Given the description of an element on the screen output the (x, y) to click on. 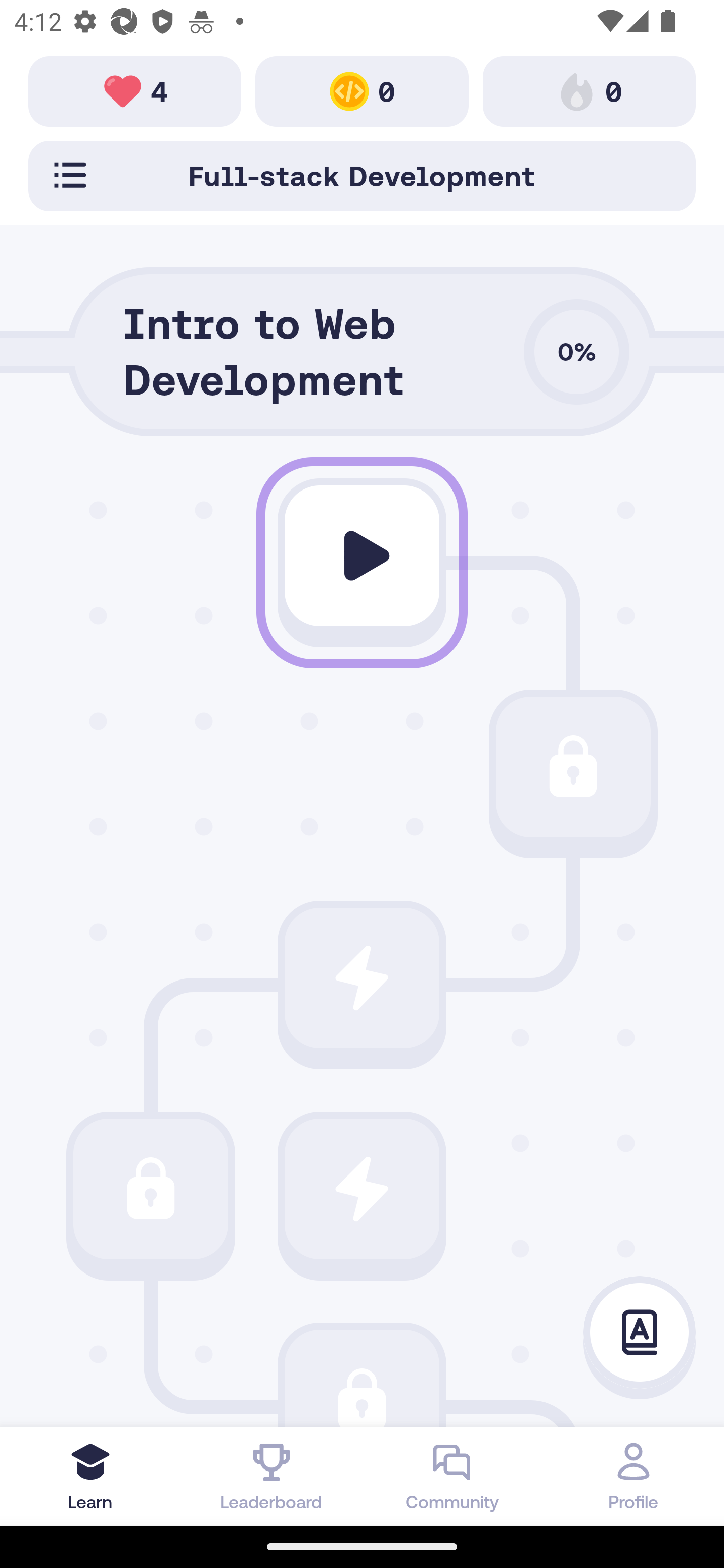
Path Toolbar Image 4 (134, 90)
Path Toolbar Image 0 (361, 90)
Path Toolbar Image 0 (588, 90)
Path Toolbar Selector Full-stack Development (361, 175)
Path Icon (361, 555)
Path Icon (572, 766)
Path Icon (361, 977)
Path Icon (150, 1188)
Path Icon (361, 1188)
Glossary Icon (639, 1332)
Path Icon (361, 1377)
Leaderboard (271, 1475)
Community (452, 1475)
Profile (633, 1475)
